Given the description of an element on the screen output the (x, y) to click on. 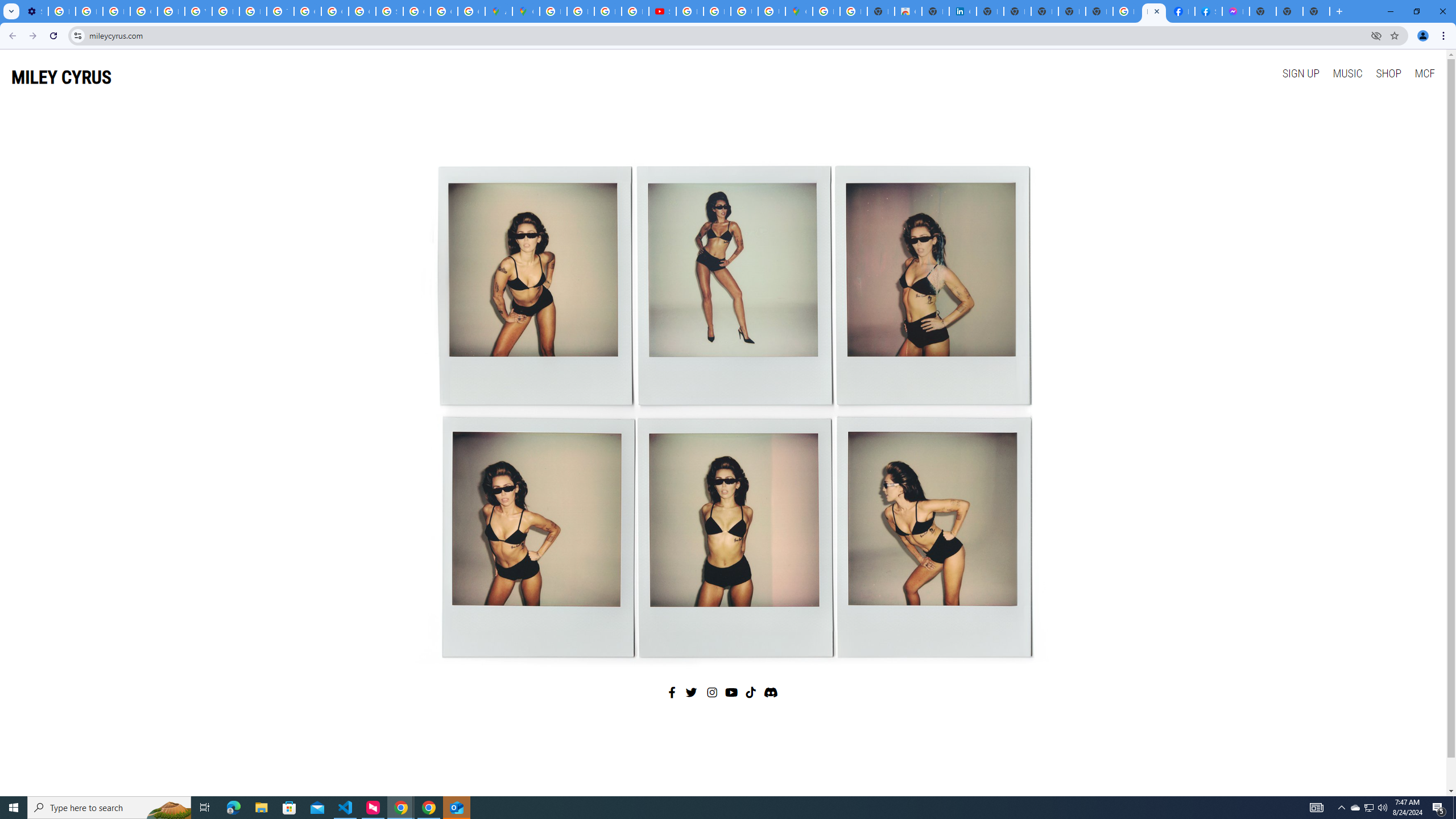
Sign in - Google Accounts (389, 11)
Privacy Help Center - Policies Help (607, 11)
Instagram (712, 692)
Chrome Web Store (908, 11)
MILEY CYRUS. (1153, 11)
Google Account Help (144, 11)
Privacy Help Center - Policies Help (580, 11)
